Given the description of an element on the screen output the (x, y) to click on. 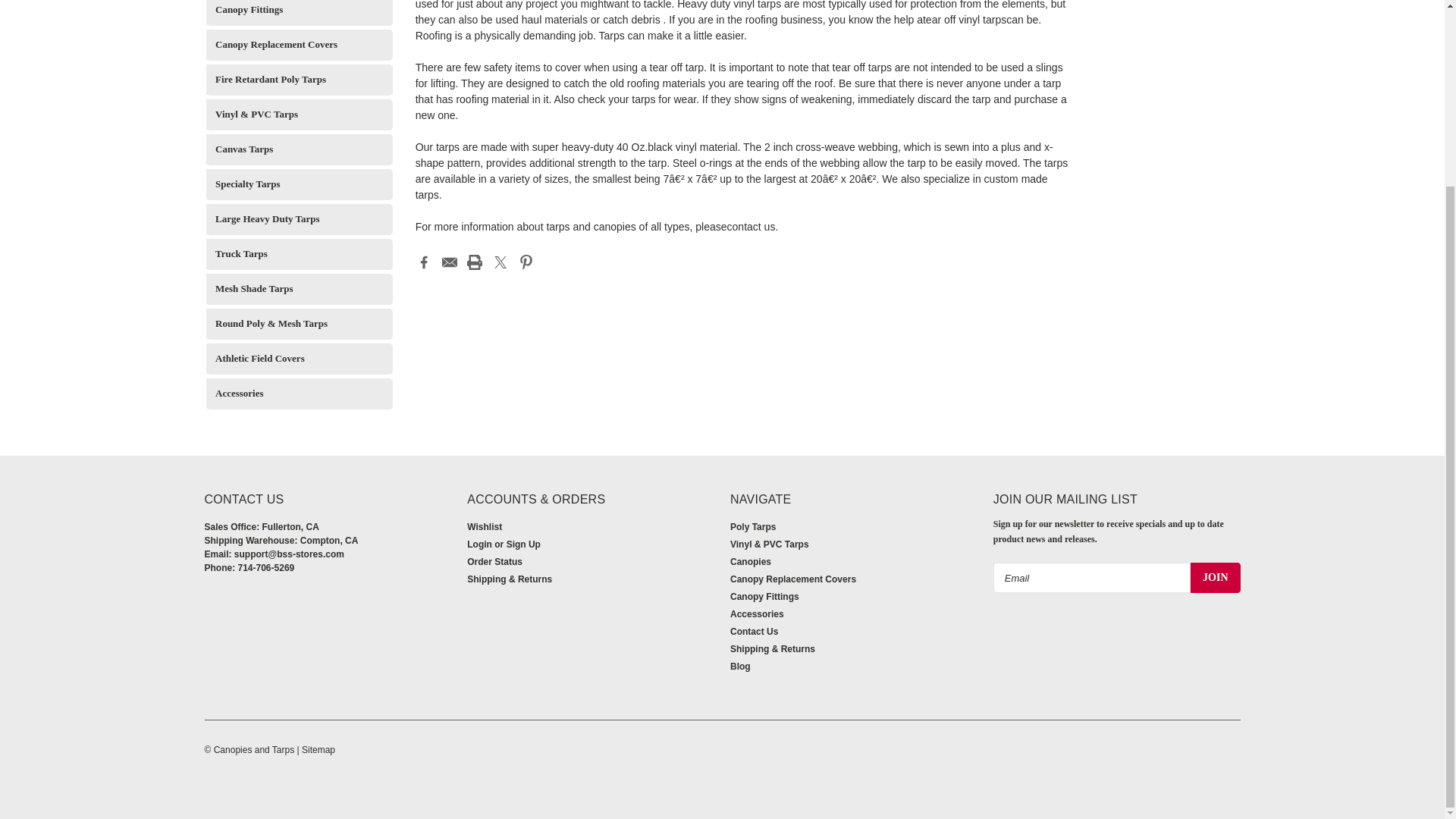
Facebook (423, 262)
Email (449, 262)
Join (1215, 577)
Twitter (500, 262)
Print (474, 262)
Pinterest (526, 262)
